Given the description of an element on the screen output the (x, y) to click on. 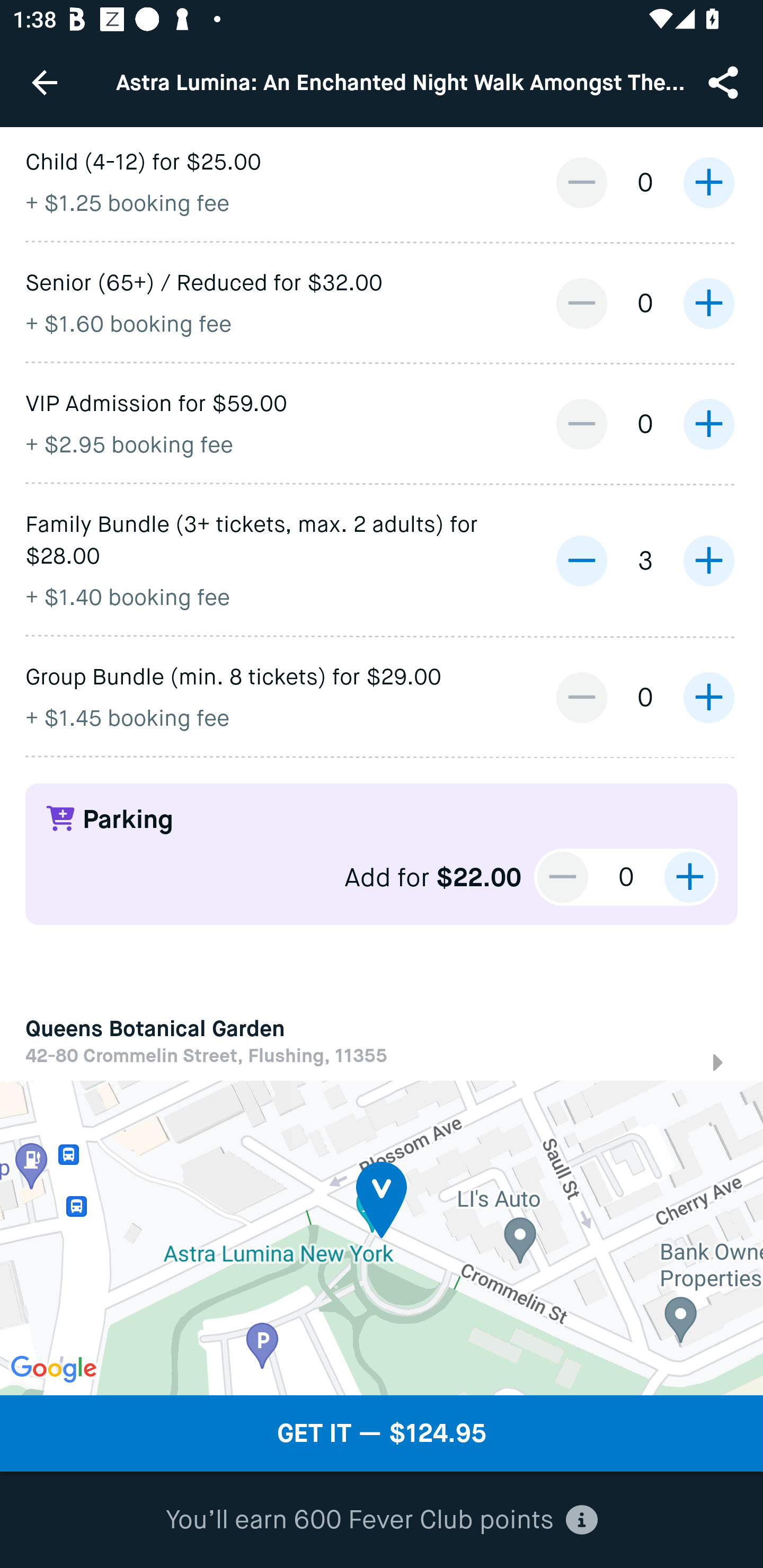
Navigate up (44, 82)
Share (724, 81)
decrease (581, 182)
increase (708, 182)
decrease (581, 302)
increase (708, 302)
decrease (581, 423)
increase (708, 423)
decrease (581, 560)
increase (708, 560)
decrease (581, 697)
increase (708, 697)
decrease (562, 876)
increase (689, 876)
Google Map Map Marker (381, 1237)
GET IT — $124.95 (381, 1433)
You’ll earn 600 Fever Club points (381, 1519)
